Given the description of an element on the screen output the (x, y) to click on. 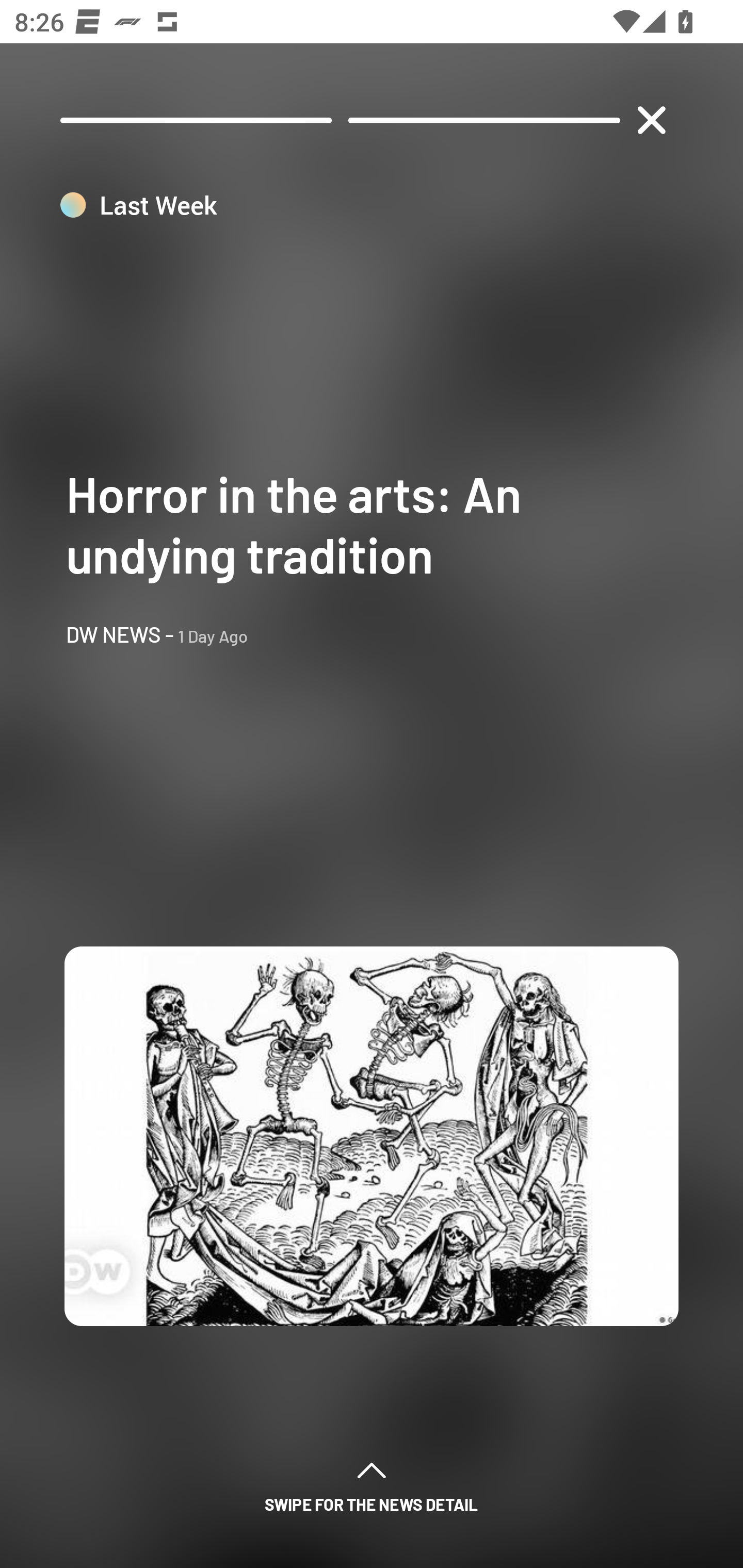
Close Highlights (651, 119)
